Given the description of an element on the screen output the (x, y) to click on. 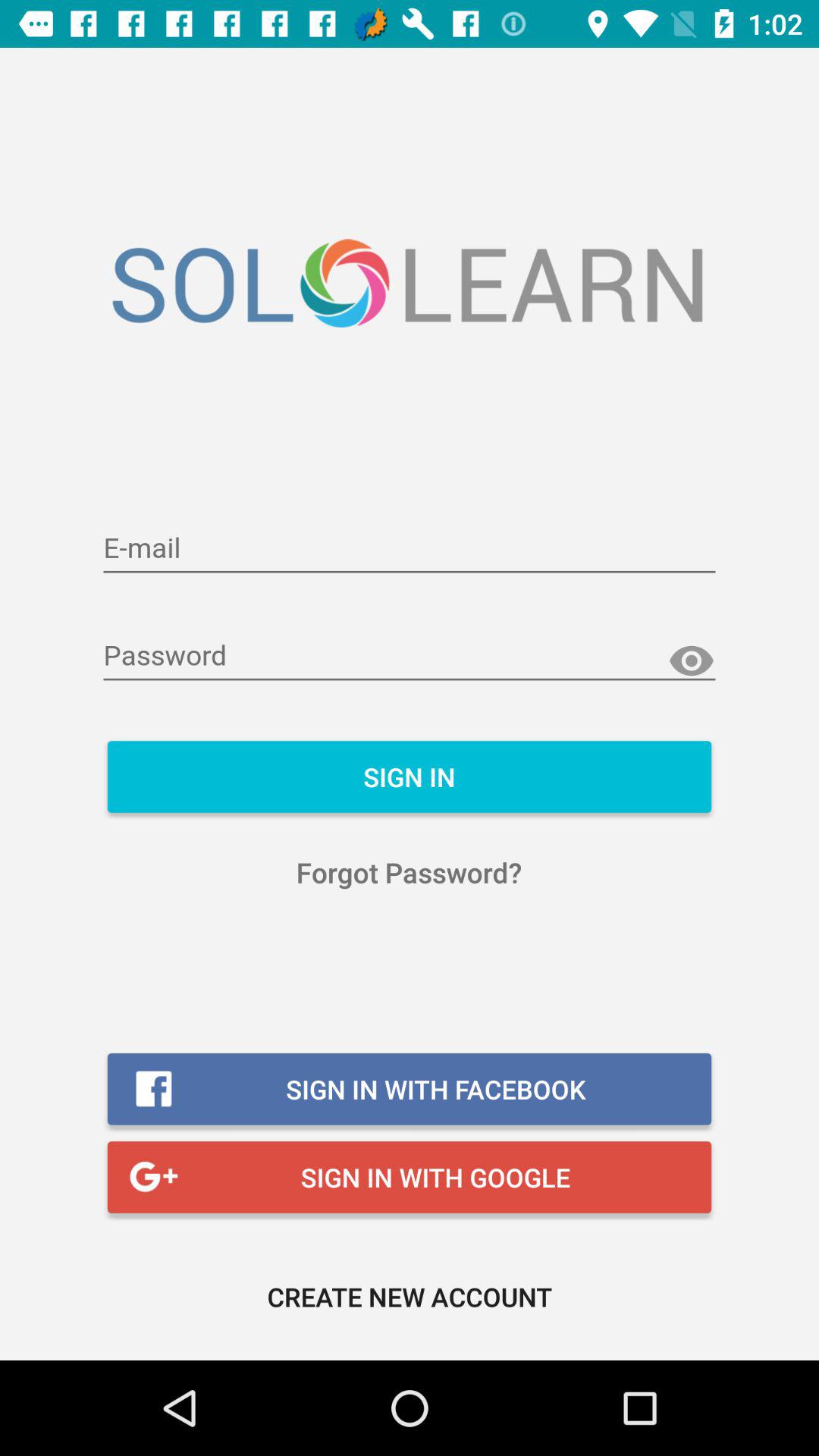
show password (691, 661)
